Given the description of an element on the screen output the (x, y) to click on. 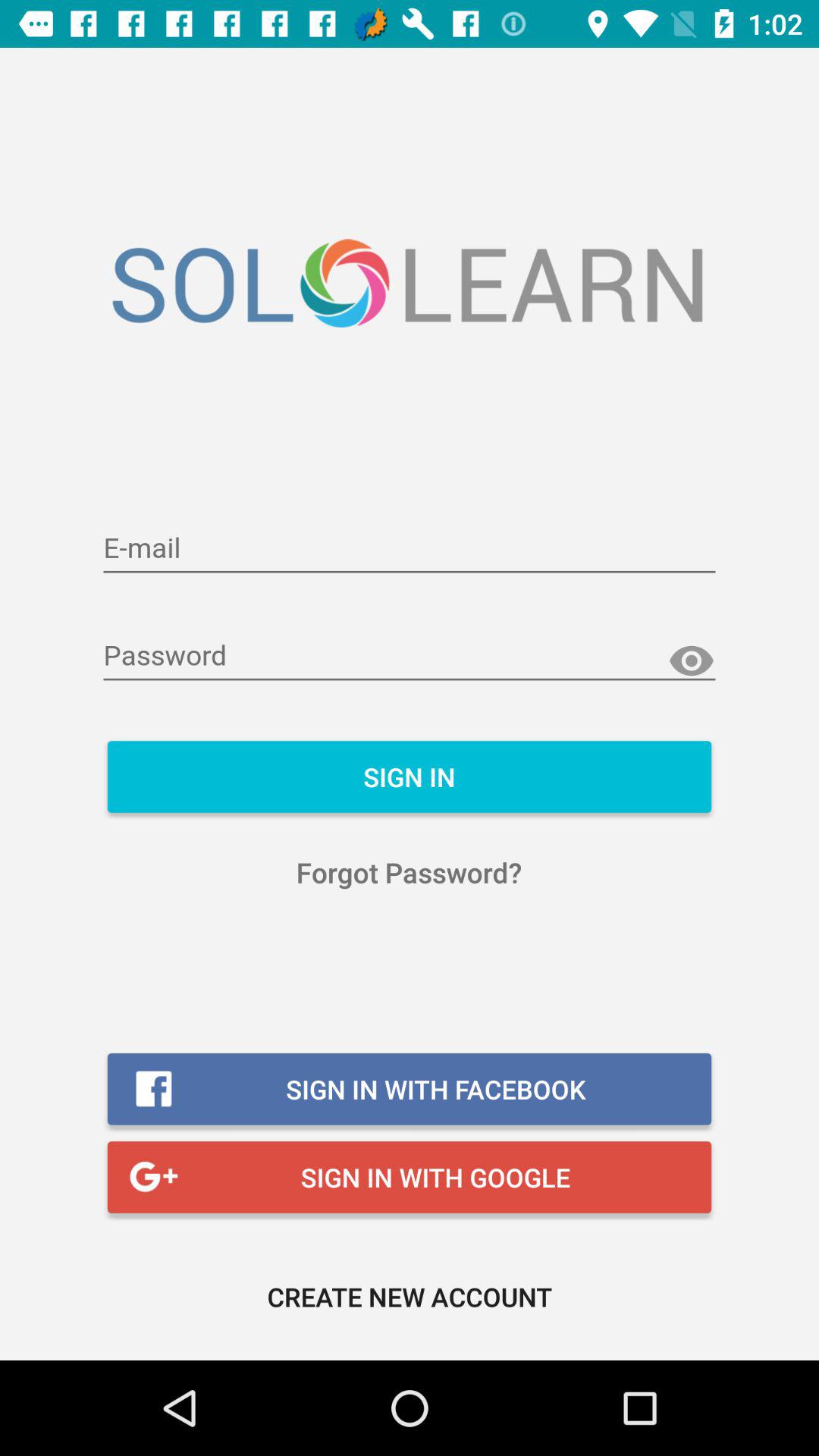
show password (691, 661)
